Given the description of an element on the screen output the (x, y) to click on. 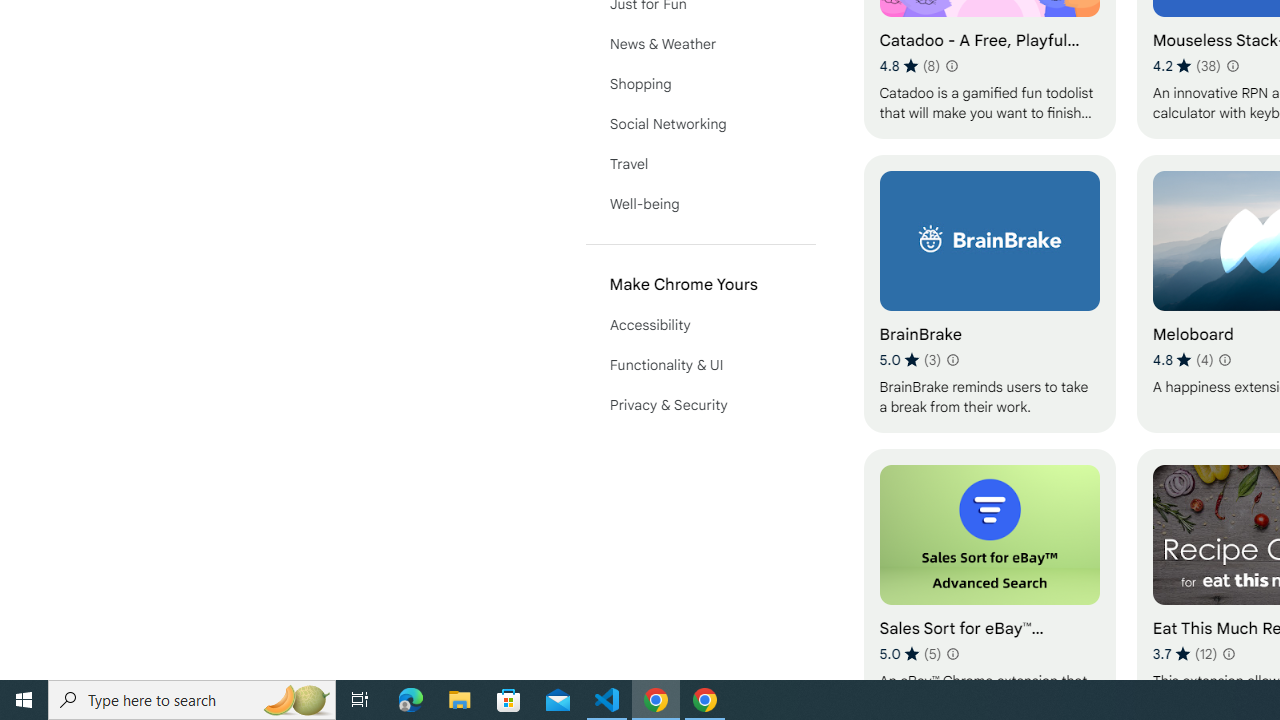
Learn more about results and reviews "Meloboard" (1224, 359)
Social Networking (700, 123)
Average rating 4.8 out of 5 stars. 4 ratings. (1182, 359)
Average rating 5 out of 5 stars. 5 ratings. (910, 653)
News & Weather (700, 43)
Functionality & UI (700, 364)
BrainBrake (989, 293)
Average rating 3.7 out of 5 stars. 12 ratings. (1185, 653)
Average rating 5 out of 5 stars. 3 ratings. (910, 359)
Average rating 4.2 out of 5 stars. 38 ratings. (1187, 66)
Well-being (700, 203)
Learn more about results and reviews "BrainBrake" (951, 359)
Accessibility (700, 324)
